Given the description of an element on the screen output the (x, y) to click on. 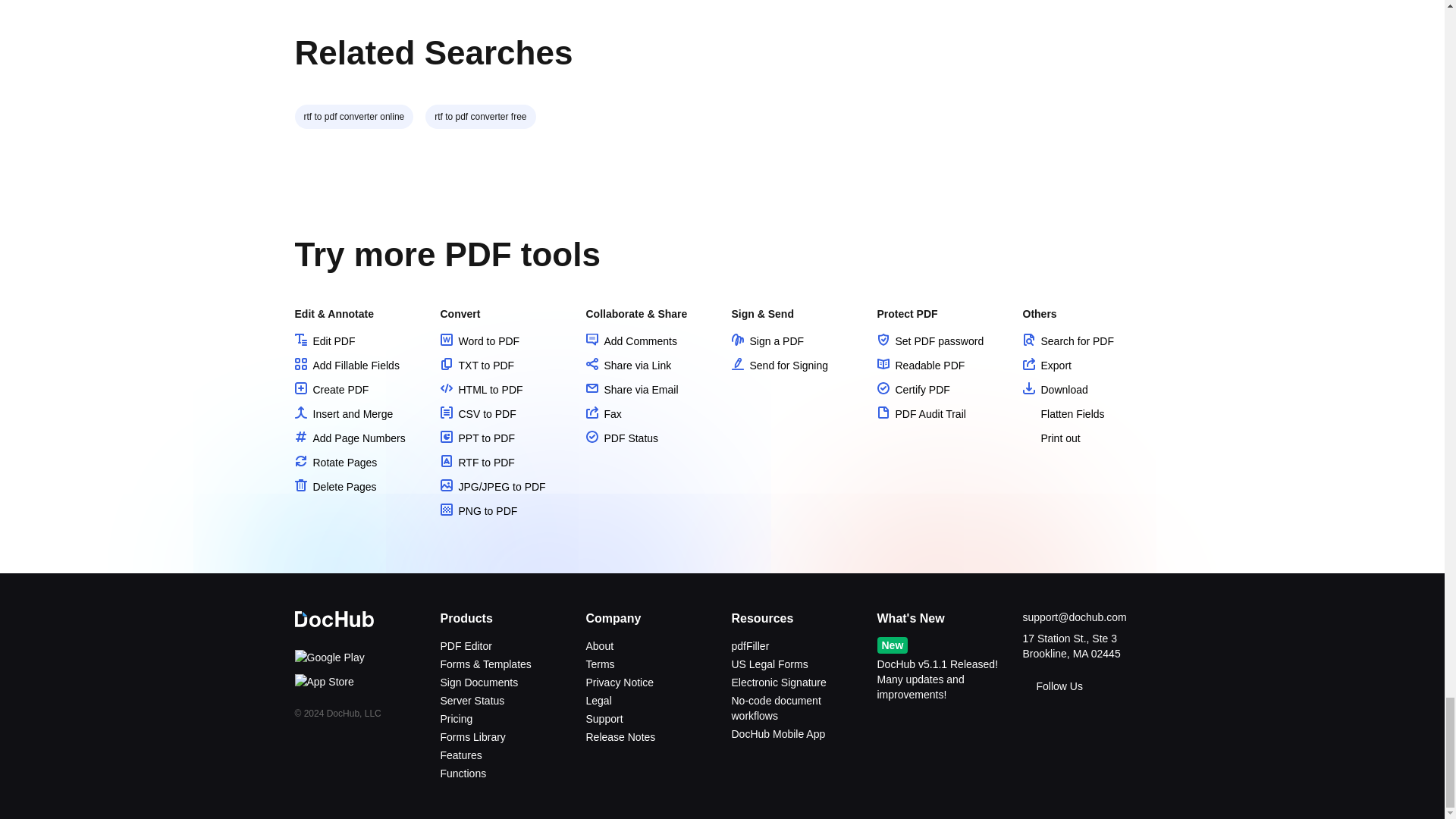
HTML to PDF (480, 389)
CSV to PDF (477, 413)
RTF to PDF (476, 462)
PPT to PDF (476, 438)
Delete Pages (334, 486)
TXT to PDF (476, 365)
Add Fillable Fields (346, 365)
Rotate Pages (335, 462)
Fax (603, 413)
Share via Link (628, 365)
